Given the description of an element on the screen output the (x, y) to click on. 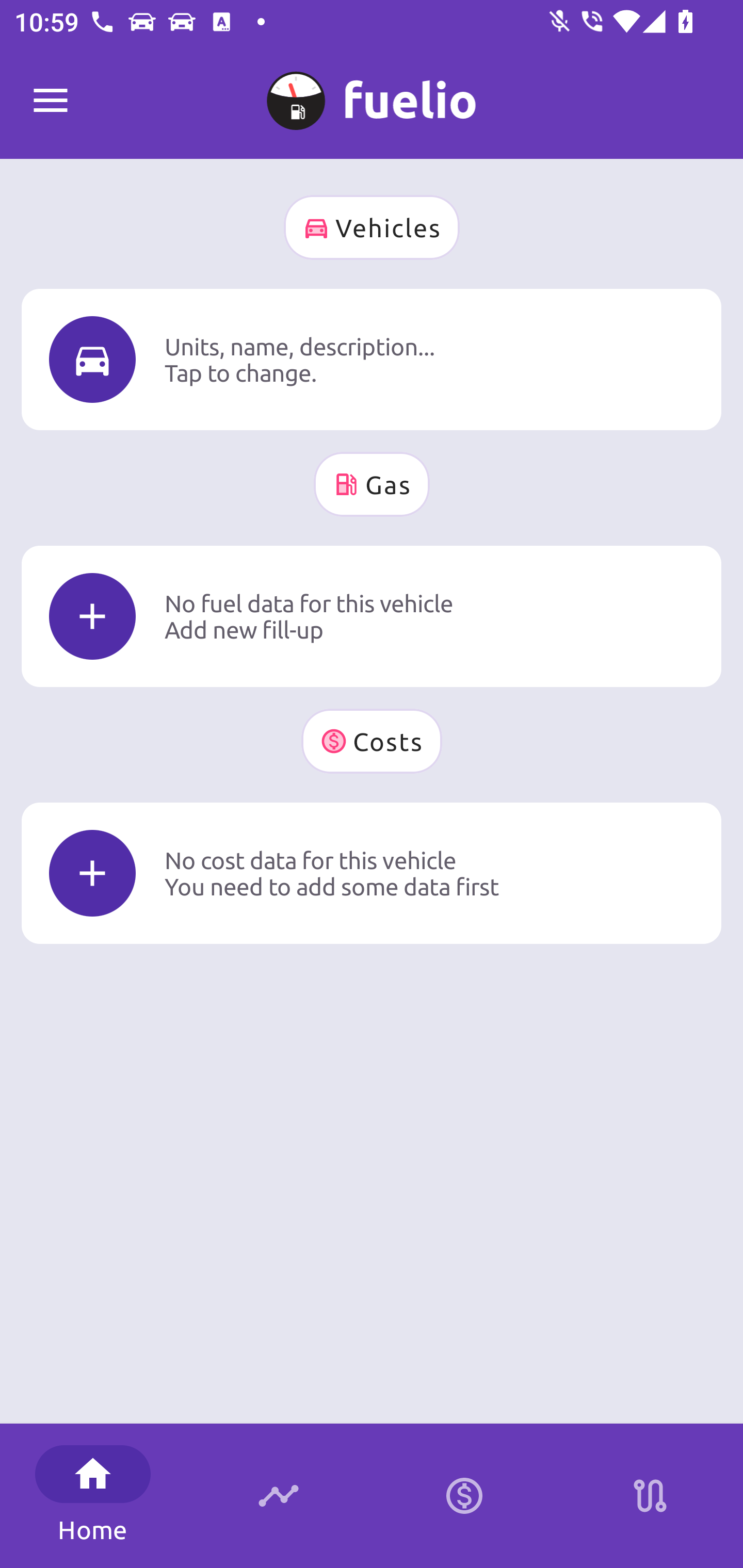
M My Car 0 km (371, 92)
Fuelio (50, 101)
Vehicles (371, 227)
Icon Units, name, description...
Tap to change. (371, 358)
Icon (92, 359)
Gas (371, 484)
Icon No fuel data for this vehicle
Add new fill-up (371, 615)
Icon (92, 616)
Costs (371, 740)
Icon (92, 873)
Timeline (278, 1495)
Calculator (464, 1495)
Stations on route (650, 1495)
